Given the description of an element on the screen output the (x, y) to click on. 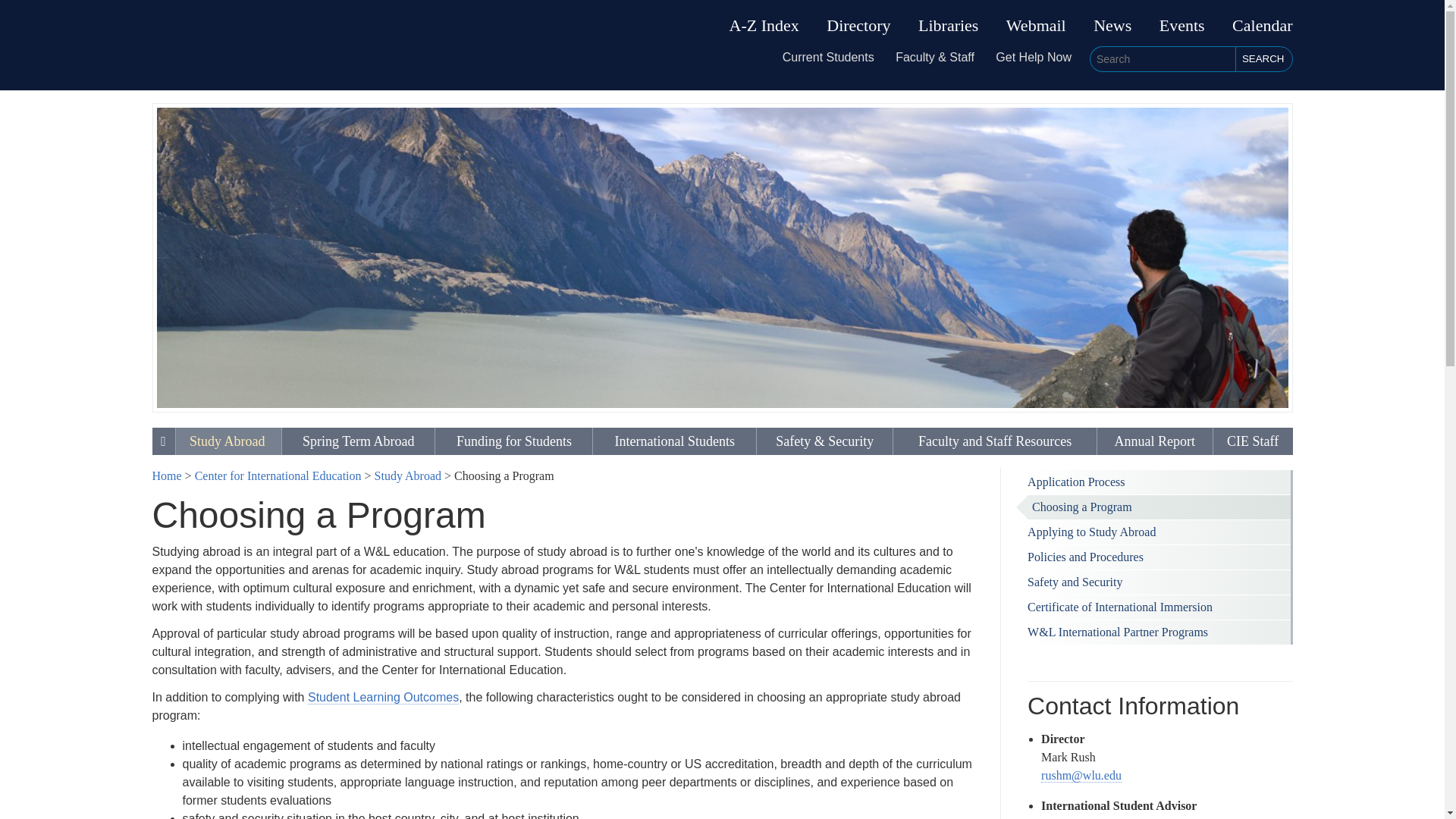
International Students (673, 441)
Events (1181, 25)
Webmail (1035, 25)
Libraries (948, 25)
Spring Term Abroad (357, 441)
Study Abroad (228, 441)
Directory (858, 25)
Get Help Now (1033, 57)
Annual Report (1154, 441)
Application Process (1158, 482)
Funding for Students (513, 441)
CIE Staff (1252, 441)
News (1112, 25)
Current Students (829, 57)
Safety and Security (1158, 582)
